Given the description of an element on the screen output the (x, y) to click on. 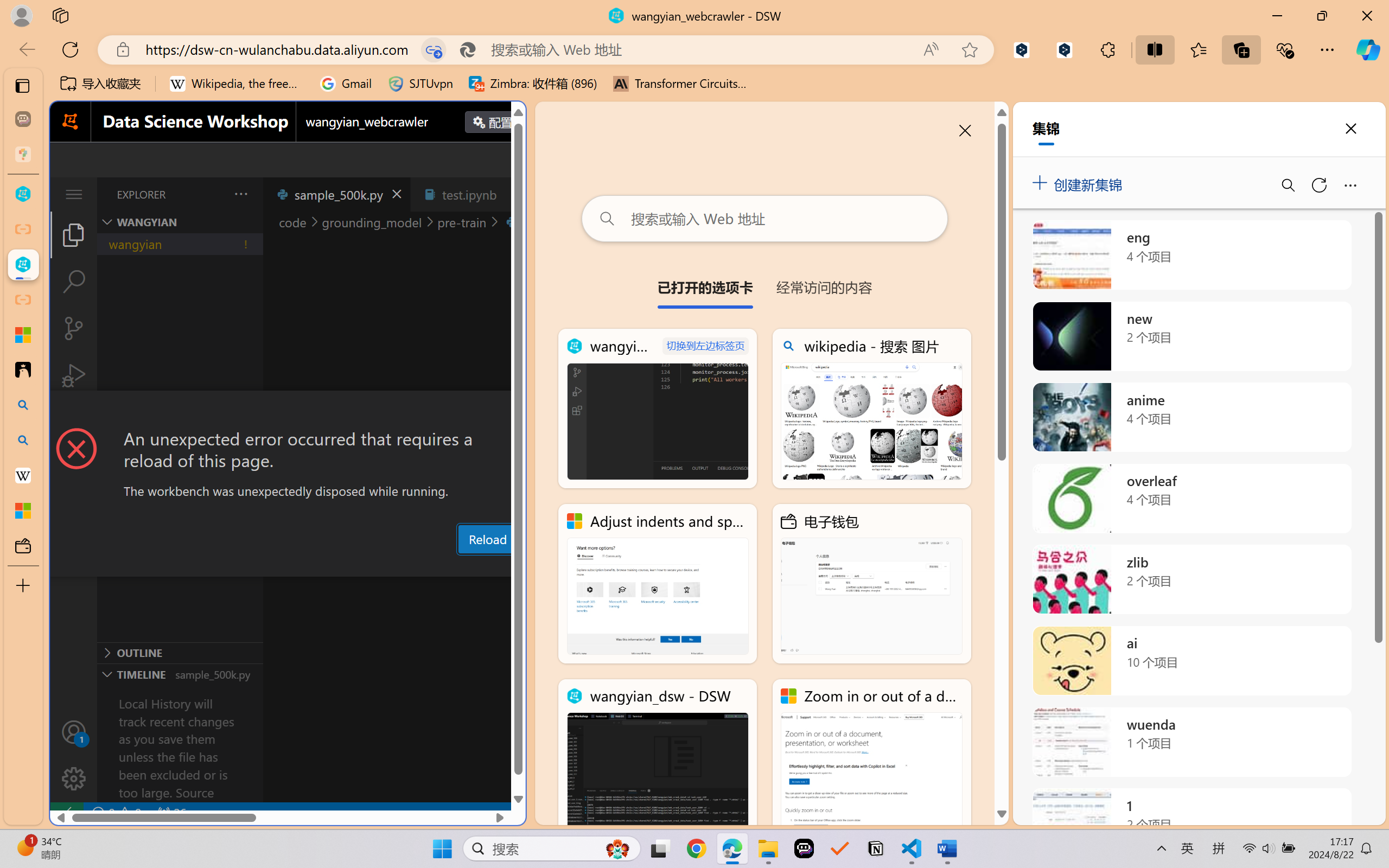
Outline Section (179, 652)
Gmail (345, 83)
Explorer actions (212, 194)
Search (Ctrl+Shift+F) (73, 281)
Copilot (Ctrl+Shift+.) (1368, 49)
Adjust indents and spacing - Microsoft Support (22, 334)
Debug Console (Ctrl+Shift+Y) (463, 565)
Output (Ctrl+Shift+U) (377, 565)
